Given the description of an element on the screen output the (x, y) to click on. 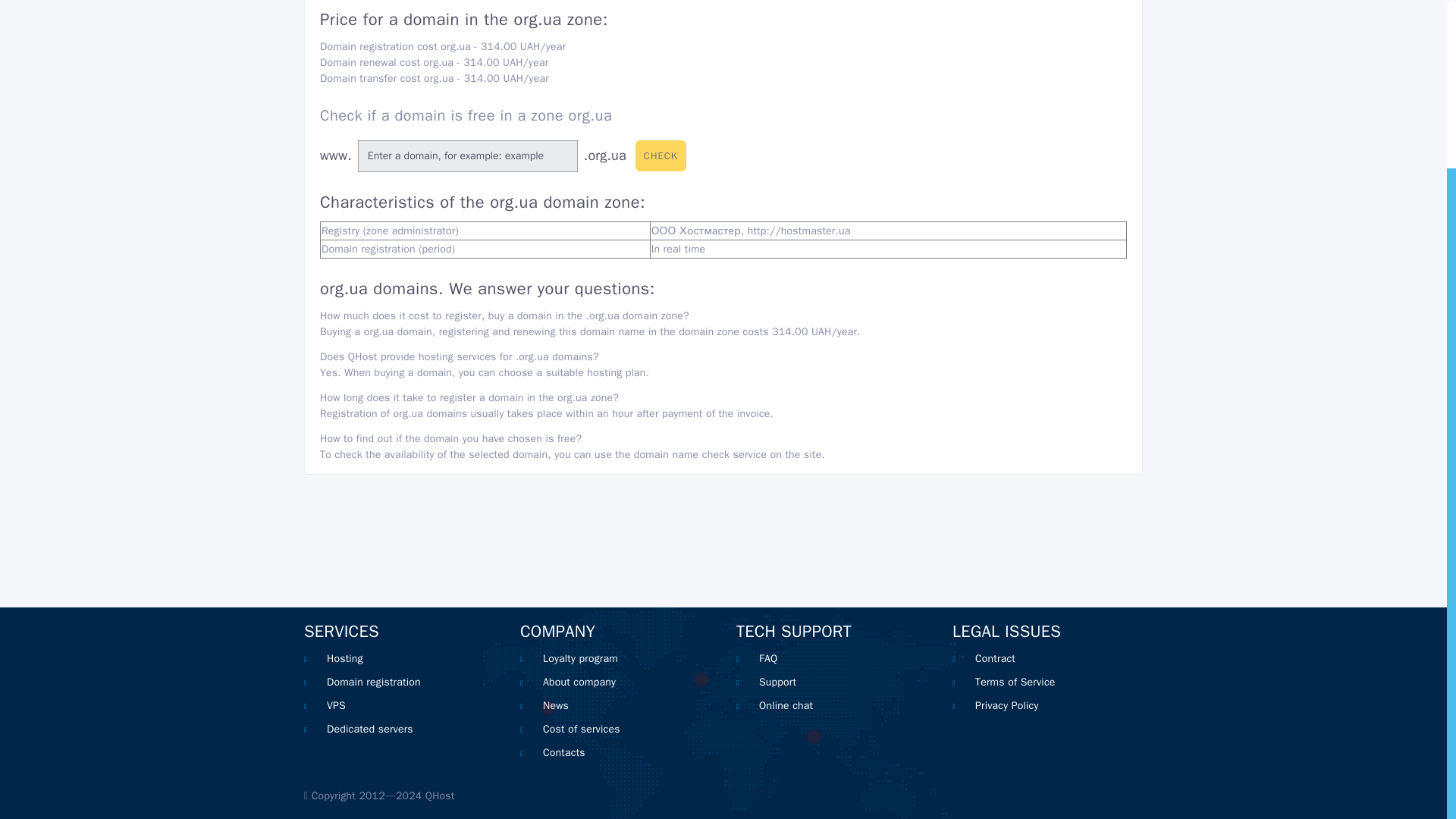
Dedicated servers (369, 728)
News (556, 705)
Check if a domain is free in a zone org.ua (465, 115)
Domain registration (373, 681)
CHECK (659, 155)
About company (579, 681)
VPS (336, 705)
Hosting (344, 658)
Loyalty program (580, 658)
